Given the description of an element on the screen output the (x, y) to click on. 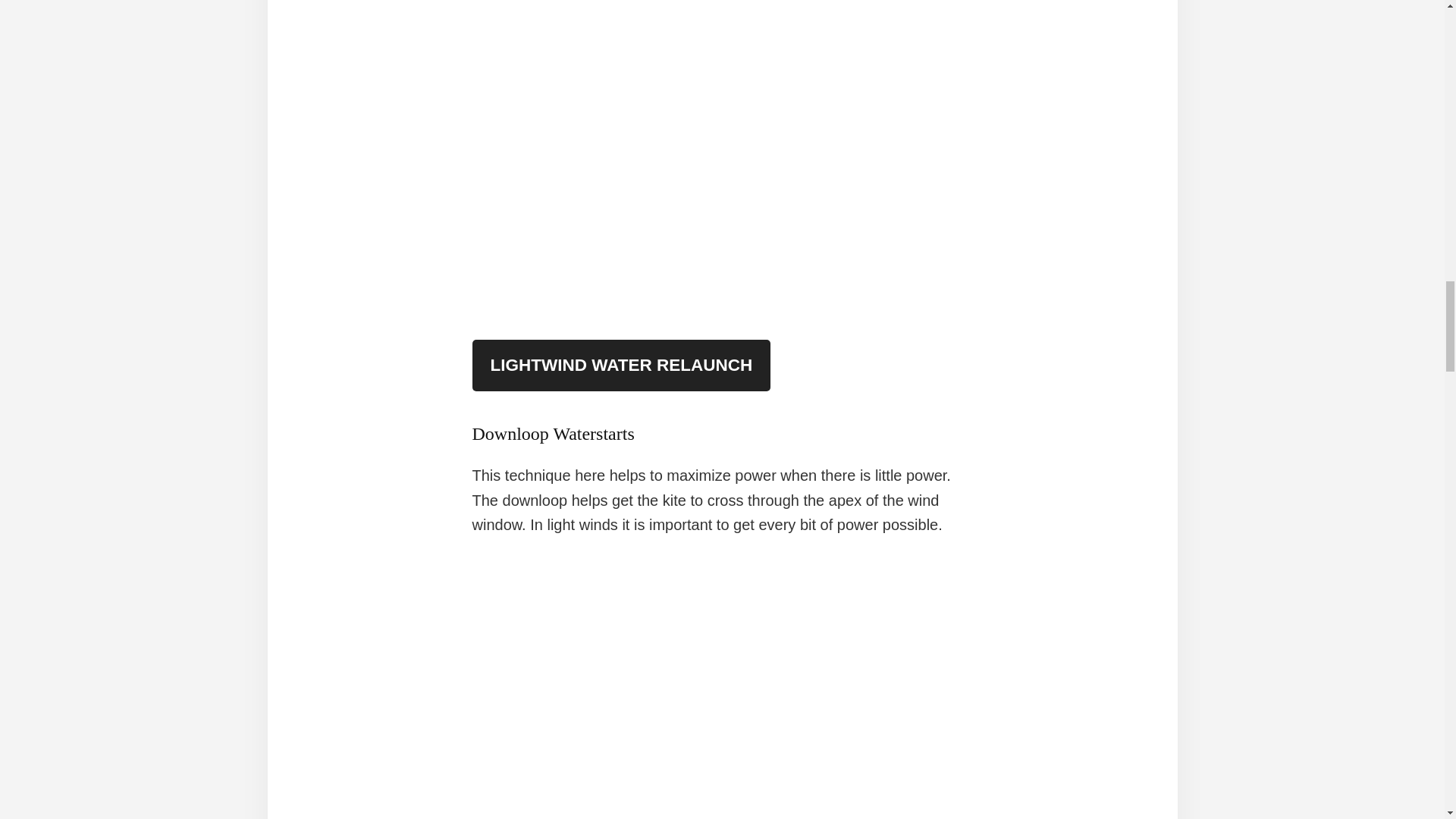
LIGHTWIND WATER RELAUNCH (620, 365)
